Given the description of an element on the screen output the (x, y) to click on. 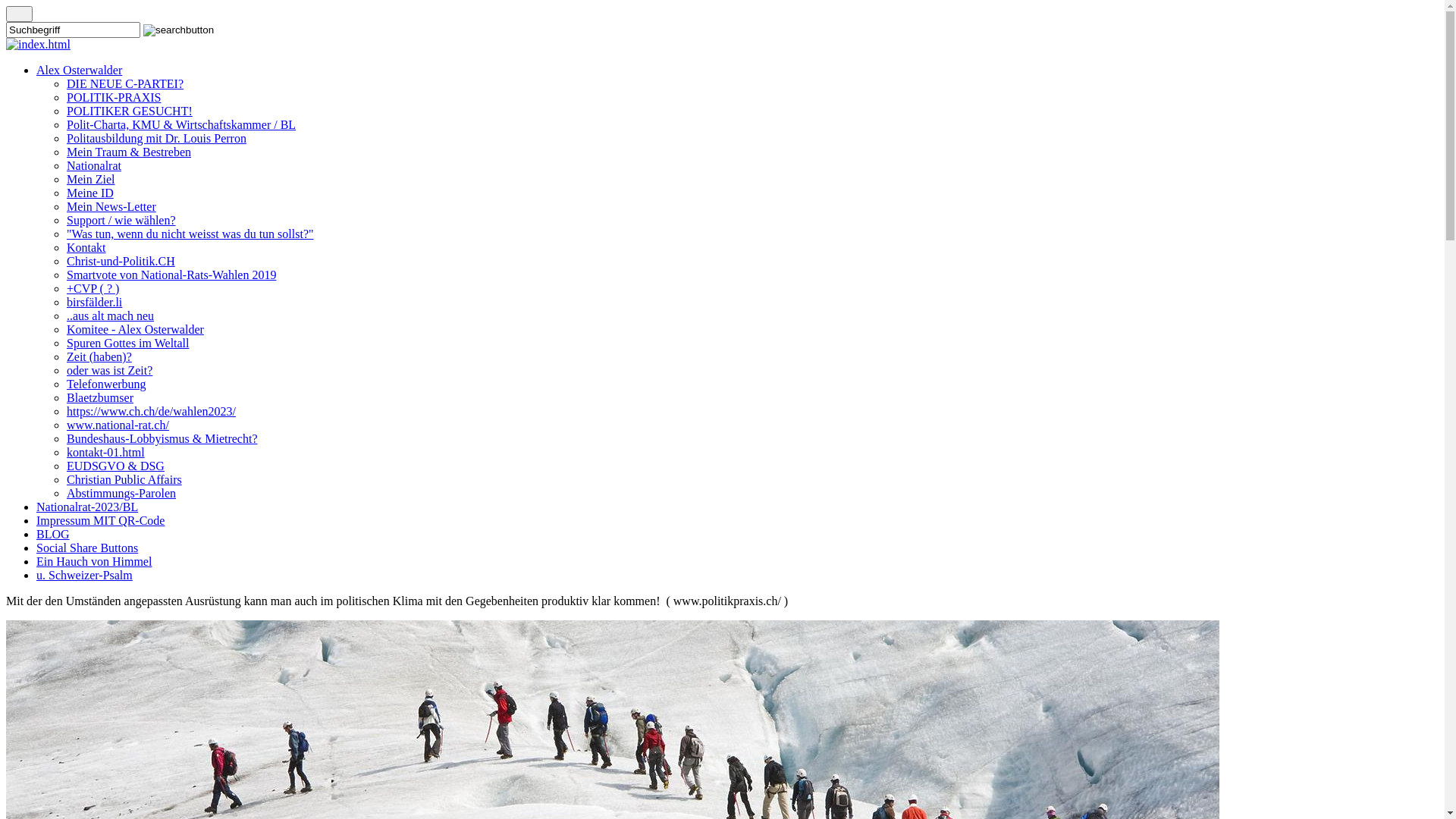
oder was ist Zeit? Element type: text (109, 370)
Polit-Charta, KMU & Wirtschaftskammer / BL Element type: text (180, 124)
..aus alt mach neu Element type: text (109, 315)
POLITIKER GESUCHT! Element type: text (129, 110)
Social Share Buttons Element type: text (87, 547)
"Was tun, wenn du nicht weisst was du tun sollst?" Element type: text (189, 233)
      Element type: text (19, 13)
POLITIK-PRAXIS Element type: text (113, 97)
www.national-rat.ch/ Element type: text (117, 424)
Politausbildung mit Dr. Louis Perron Element type: text (156, 137)
Abstimmungs-Parolen Element type: text (120, 492)
Ein Hauch von Himmel Element type: text (93, 561)
Nationalrat Element type: text (93, 165)
Telefonwerbung Element type: text (106, 383)
+CVP ( ? ) Element type: text (92, 288)
Kontakt Element type: text (86, 247)
Mein News-Letter Element type: text (111, 206)
kontakt-01.html Element type: text (105, 451)
Spuren Gottes im Weltall Element type: text (127, 342)
Blaetzbumser Element type: text (99, 397)
https://www.ch.ch/de/wahlen2023/ Element type: text (150, 410)
BLOG Element type: text (52, 533)
Impressum MIT QR-Code Element type: text (100, 520)
Smartvote von National-Rats-Wahlen 2019 Element type: text (171, 274)
Mein Traum & Bestreben Element type: text (128, 151)
Nationalrat-2023/BL Element type: text (87, 506)
Komitee - Alex Osterwalder Element type: text (134, 329)
Meine ID Element type: text (89, 192)
Zeit (haben)? Element type: text (98, 356)
DIE NEUE C-PARTEI? Element type: text (124, 83)
Christian Public Affairs Element type: text (124, 479)
u. Schweizer-Psalm Element type: text (84, 574)
Christ-und-Politik.CH Element type: text (120, 260)
Bundeshaus-Lobbyismus & Mietrecht? Element type: text (161, 438)
Mein Ziel Element type: text (90, 178)
EUDSGVO & DSG Element type: text (115, 465)
Alex Osterwalder Element type: text (79, 69)
